Given the description of an element on the screen output the (x, y) to click on. 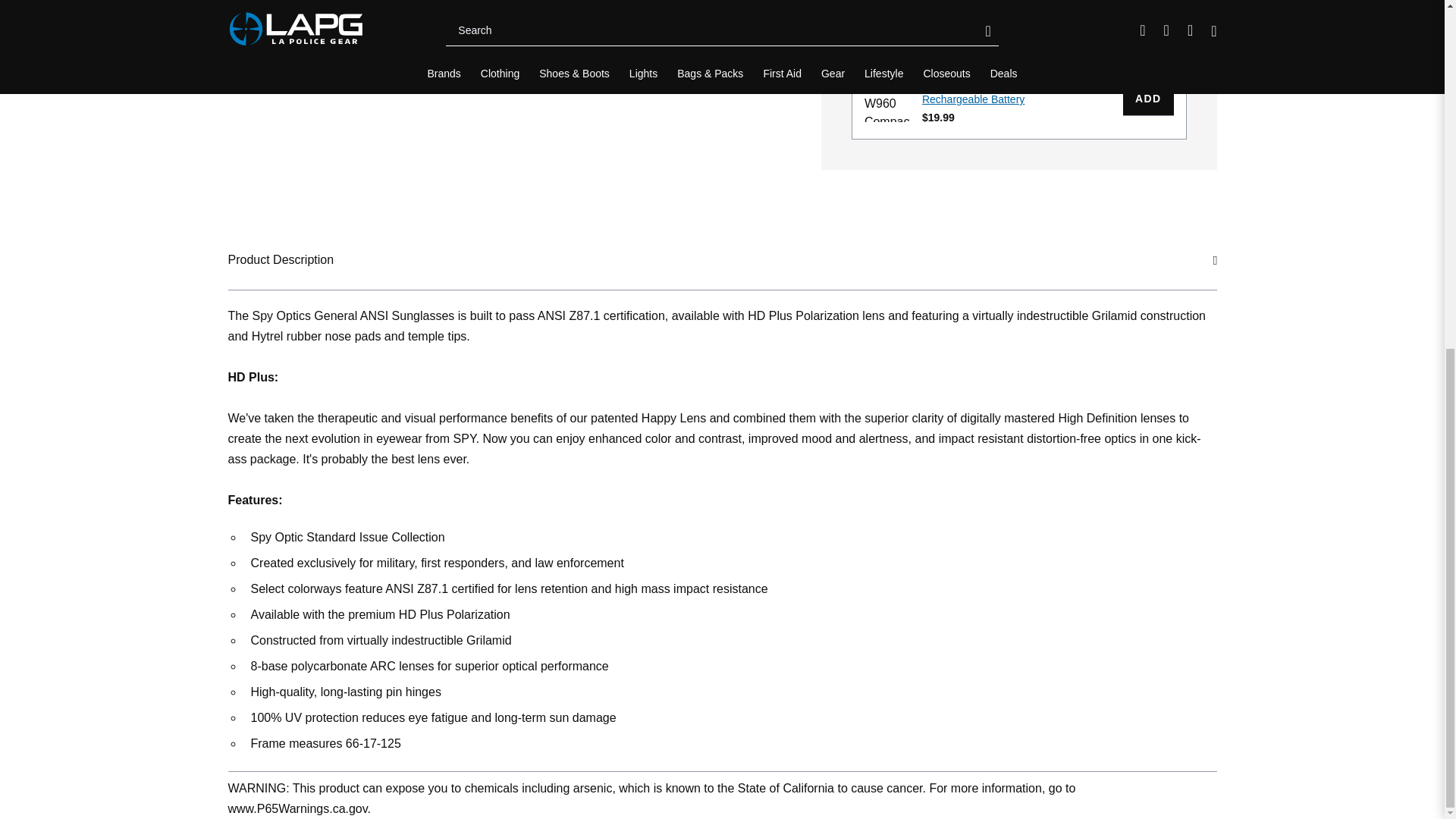
Add (1147, 99)
Options (1133, 14)
